Given the description of an element on the screen output the (x, y) to click on. 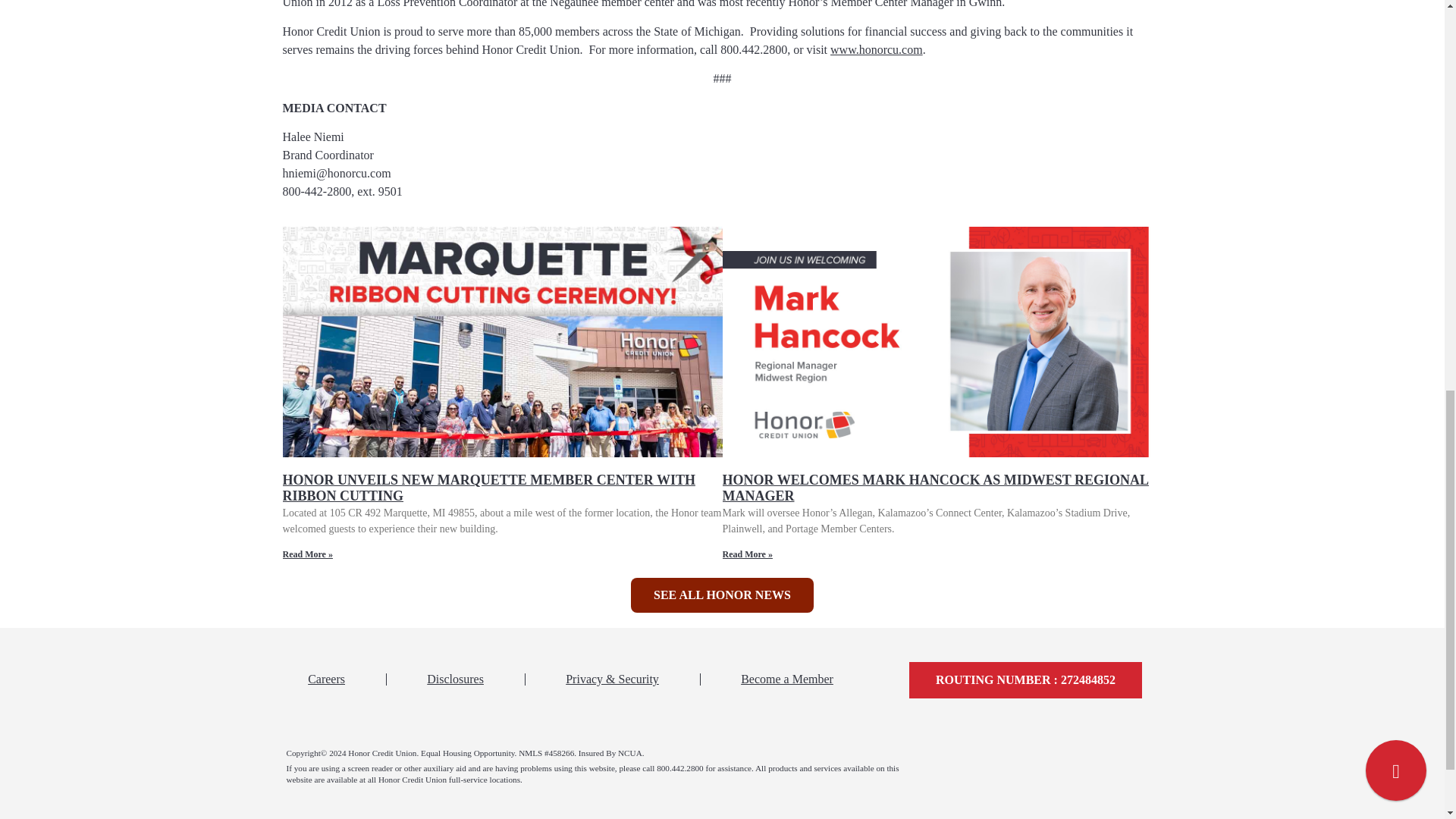
Click to Copy (1024, 679)
